Given the description of an element on the screen output the (x, y) to click on. 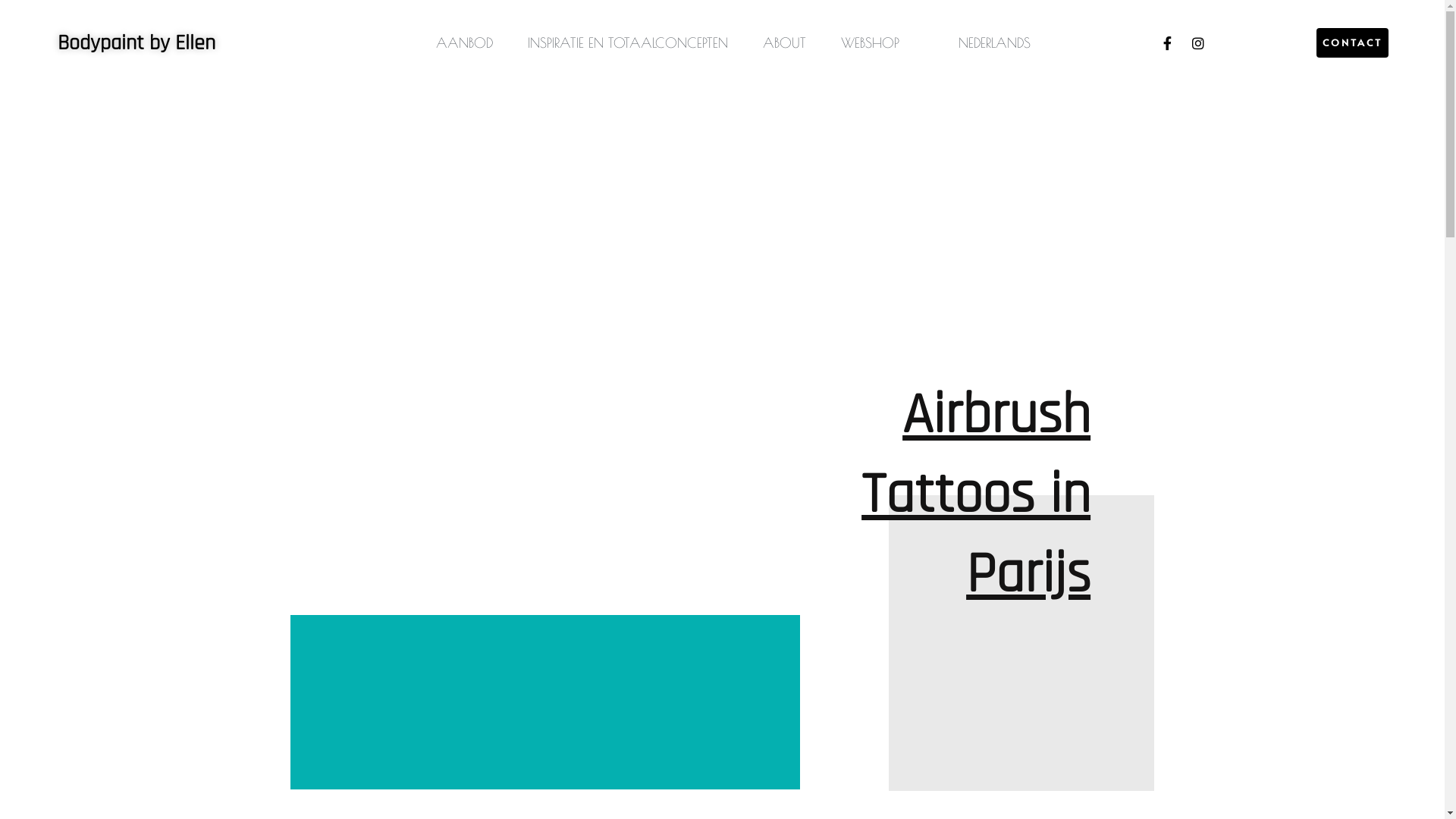
CONTACT Element type: text (1352, 42)
ABOUT Element type: text (784, 42)
INSPIRATIE EN TOTAALCONCEPTEN Element type: text (627, 42)
AANBOD Element type: text (464, 42)
Bodypaint by Ellen Element type: text (136, 42)
NEDERLANDS Element type: text (987, 42)
